Given the description of an element on the screen output the (x, y) to click on. 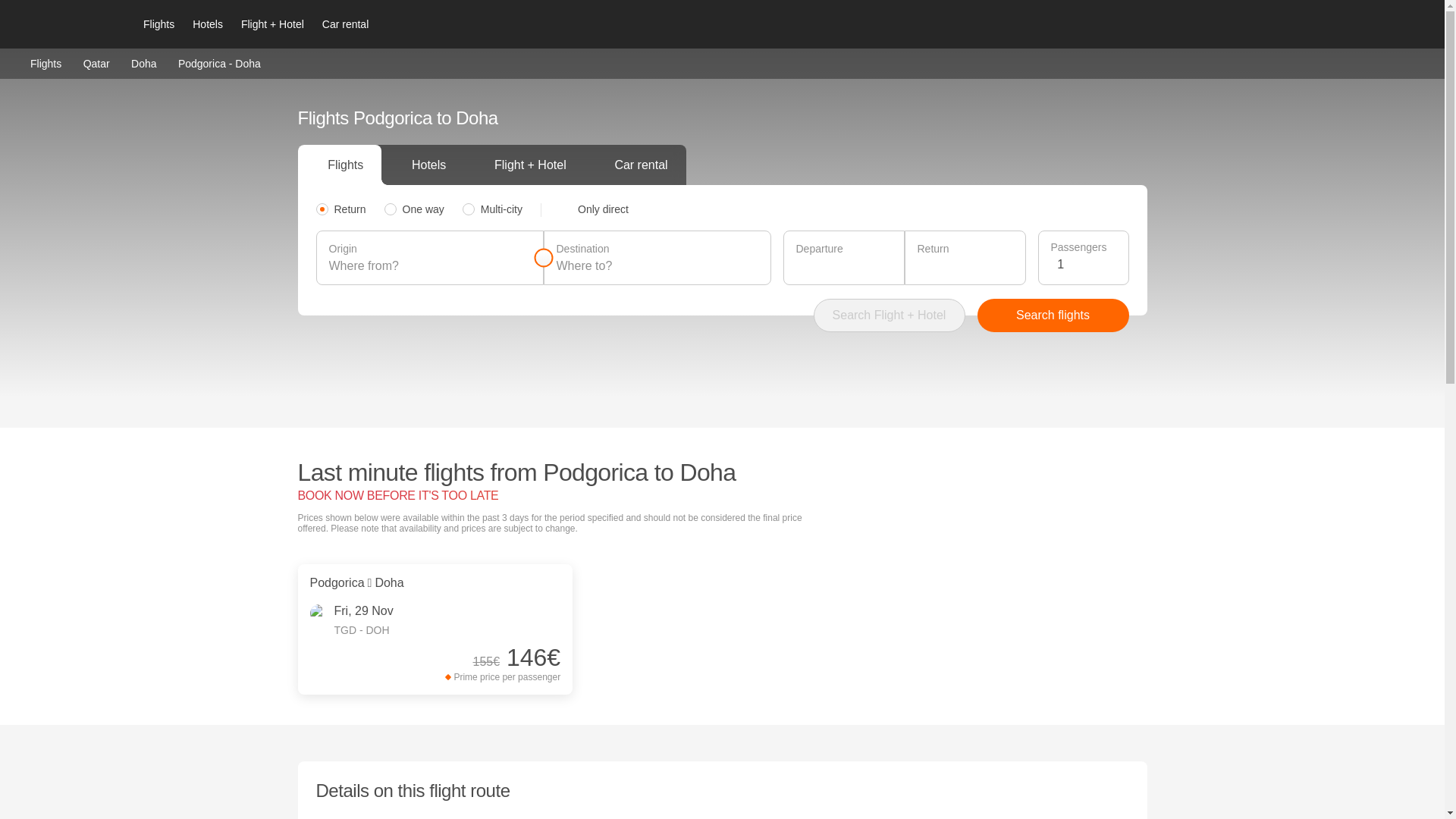
Doha (143, 62)
Car rental (345, 24)
Podgorica - Doha (218, 63)
Qatar (96, 62)
Flights (158, 24)
Hotels (207, 24)
Flights (45, 62)
Search flights (1052, 315)
1 (1086, 263)
